Given the description of an element on the screen output the (x, y) to click on. 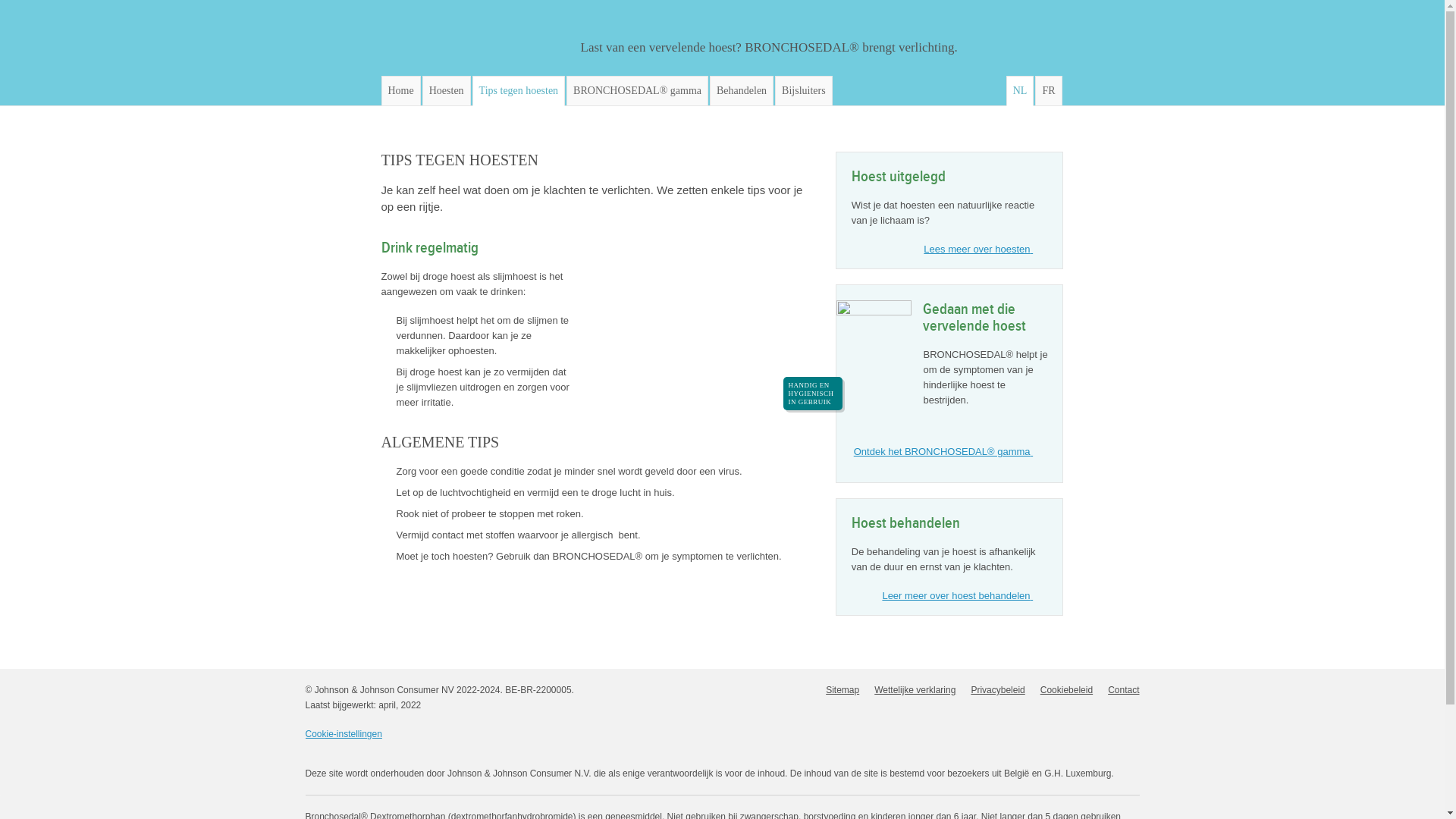
Bijsluiters Element type: text (803, 90)
Sitemap Element type: text (842, 689)
Wettelijke verklaring Element type: text (914, 689)
FR Element type: text (1048, 90)
Behandelen Element type: text (741, 90)
Bronchosedal Element type: text (470, 36)
Hoesten Element type: text (446, 90)
Privacybeleid Element type: text (997, 689)
Home Element type: text (400, 90)
Cookiebeleid Element type: text (1066, 689)
Cookie-instellingen Element type: text (342, 733)
NL Element type: text (1020, 90)
Contact Element type: text (1123, 689)
Tips tegen hoesten Element type: text (518, 90)
